Given the description of an element on the screen output the (x, y) to click on. 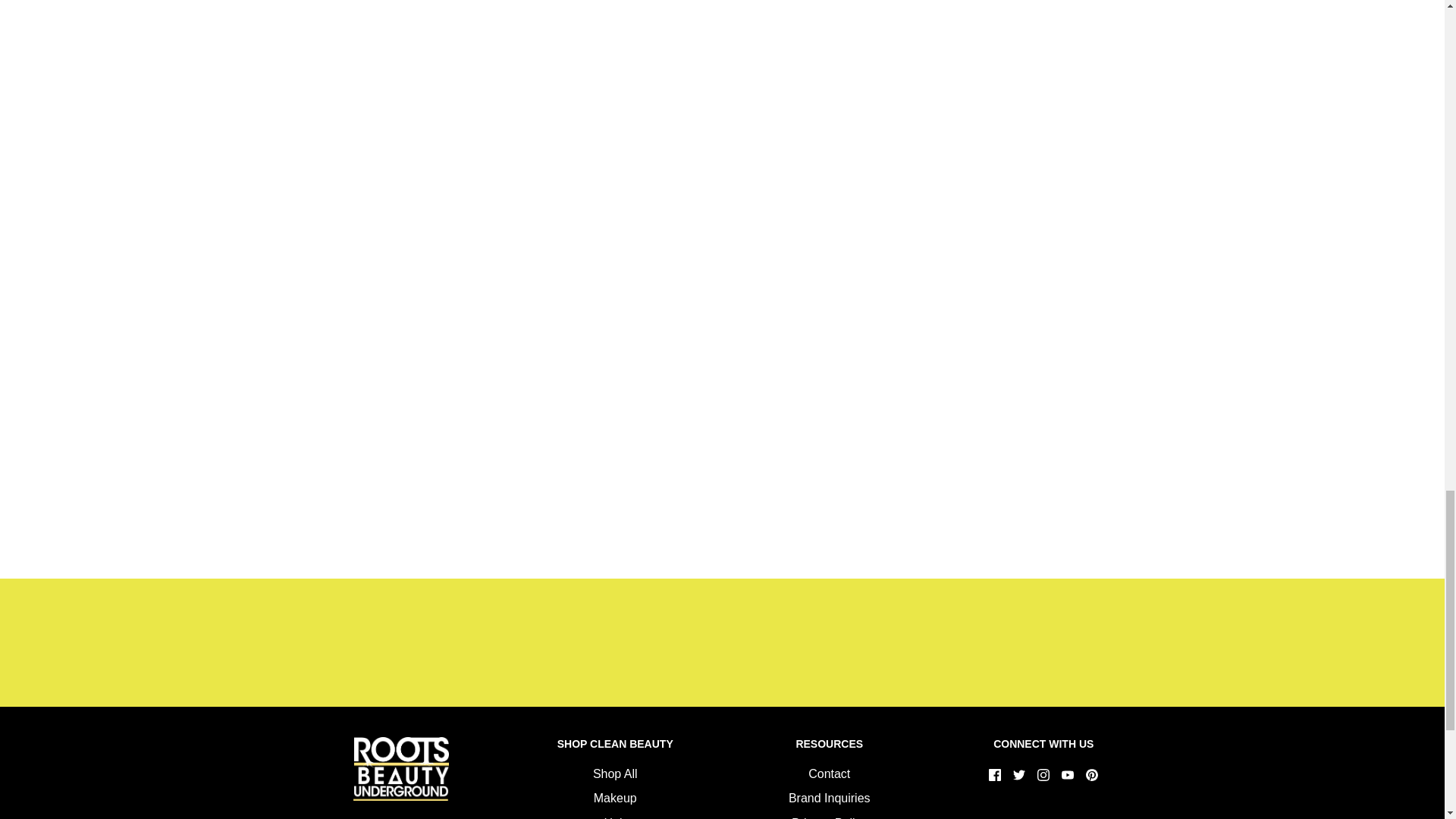
Instagram icon (1042, 775)
YouTube icon (1067, 775)
Facebook icon (994, 775)
Pinterest icon (1091, 775)
Twitter icon (1019, 775)
